Given the description of an element on the screen output the (x, y) to click on. 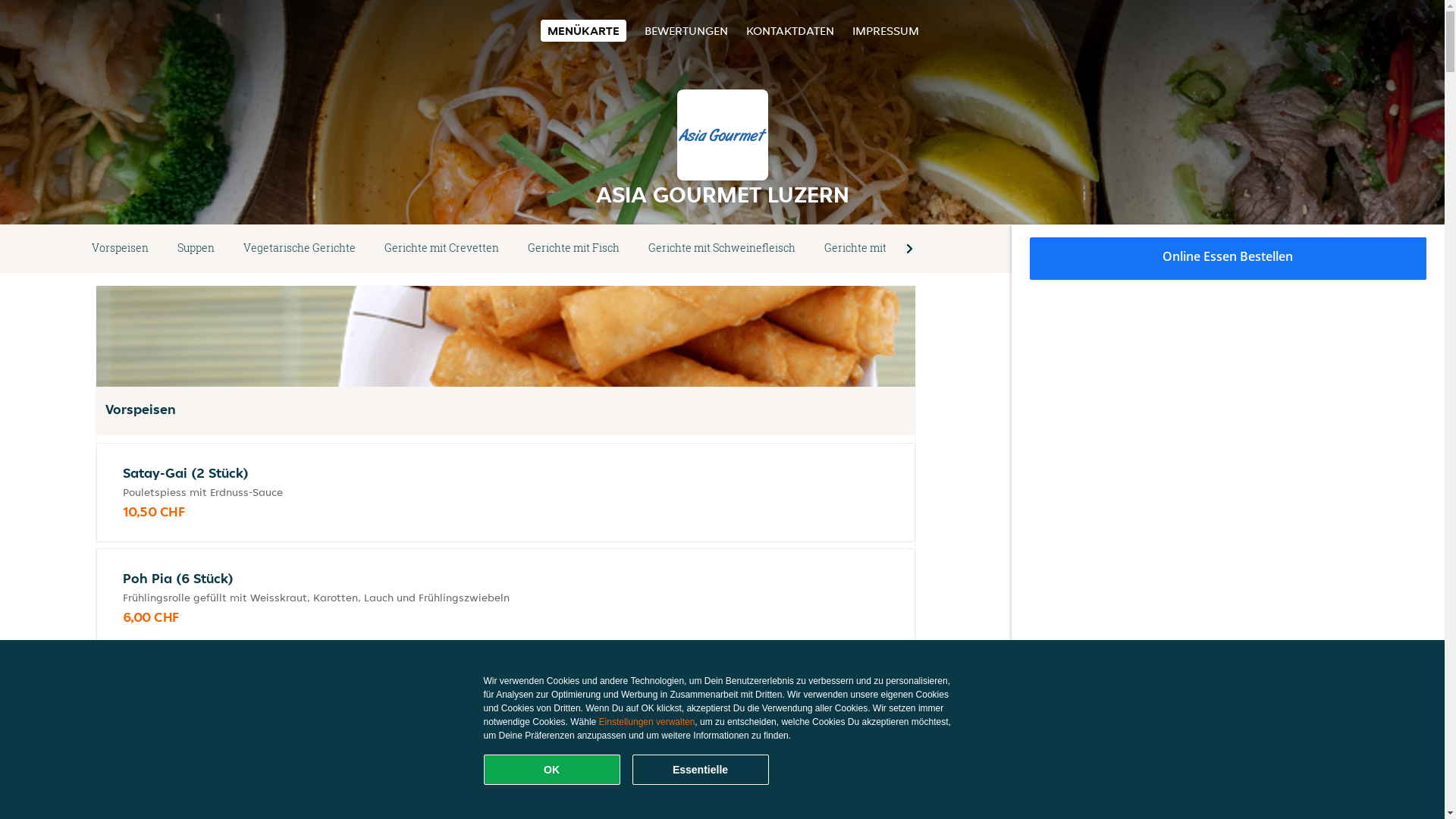
Gerichte mit Schweinefleisch Element type: text (721, 248)
OK Element type: text (551, 769)
Online Essen Bestellen Element type: text (1228, 258)
Suppen Element type: text (196, 248)
Vegetarische Gerichte Element type: text (299, 248)
Essentielle Element type: text (700, 769)
Vorspeisen Element type: text (120, 248)
Einstellungen verwalten Element type: text (647, 721)
KONTAKTDATEN Element type: text (790, 30)
BEWERTUNGEN Element type: text (686, 30)
Gerichte mit Crevetten Element type: text (441, 248)
Gerichte mit Poulet Element type: text (872, 248)
Gerichte mit Fisch Element type: text (573, 248)
IMPRESSUM Element type: text (885, 30)
